Given the description of an element on the screen output the (x, y) to click on. 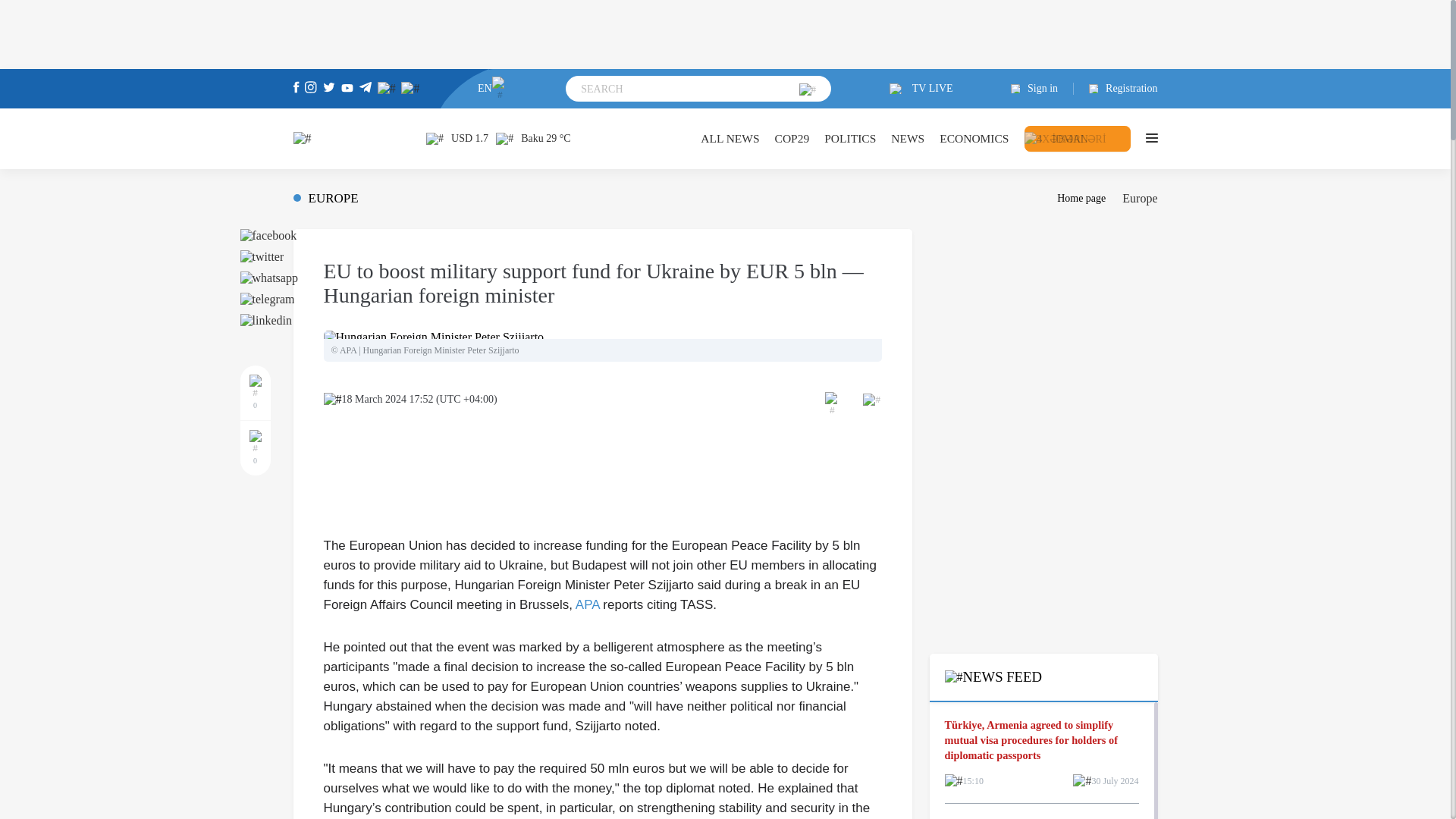
COP29 (791, 138)
ALL NEWS (729, 138)
NEWS (907, 138)
Registration (1115, 88)
USD 1.7 (456, 138)
POLITICS (850, 138)
ECONOMICS (974, 138)
TV LIVE (921, 88)
Sign in (1042, 88)
